Given the description of an element on the screen output the (x, y) to click on. 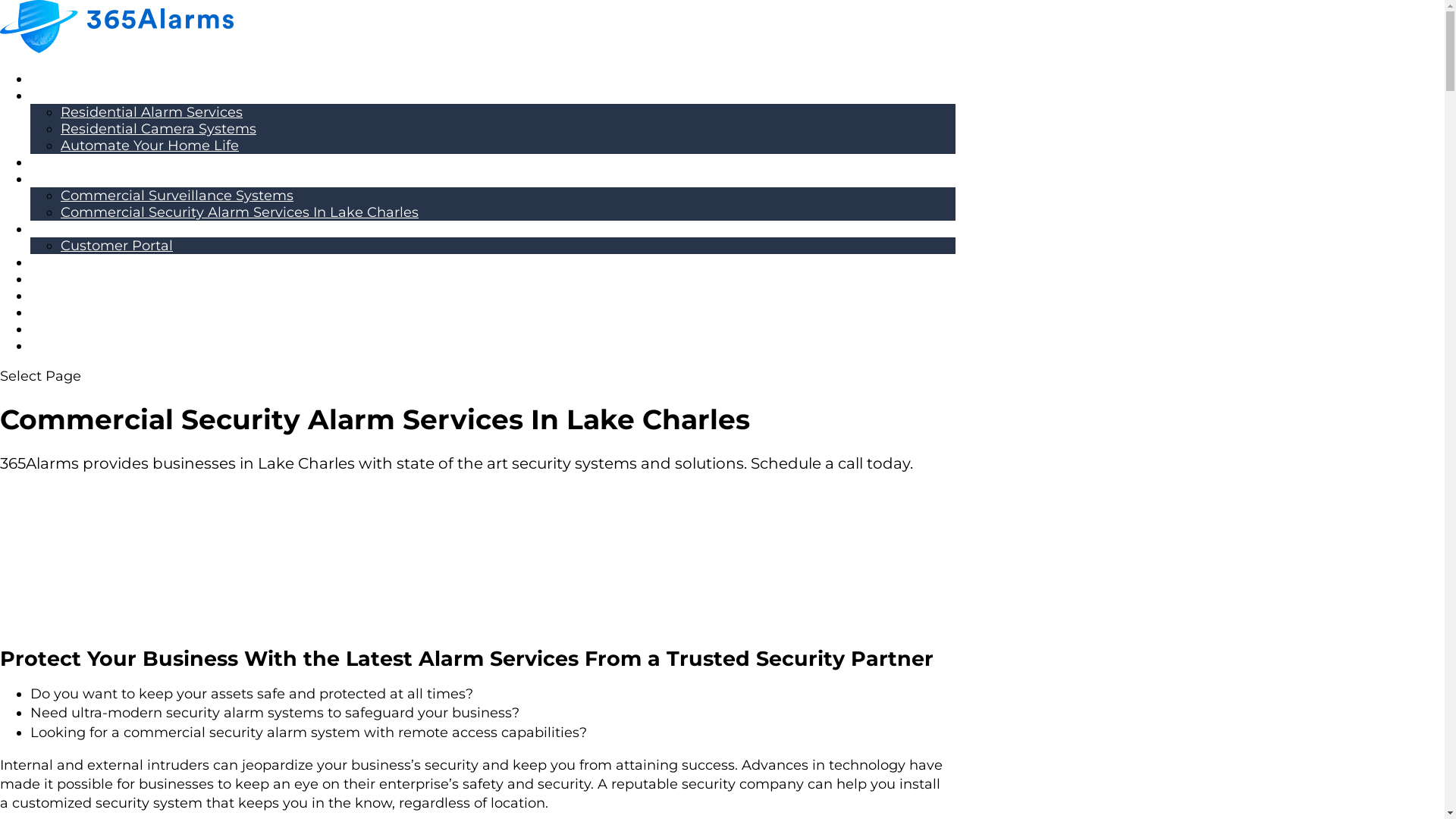
Customer Portal Element type: text (86, 228)
Residential Alarm Services Element type: text (151, 111)
Commercial Surveillance Systems Element type: text (176, 195)
Residential Camera Systems Element type: text (158, 128)
(337) 426-8844 Element type: text (80, 278)
Meet 365Alarms Element type: text (85, 78)
Customer Portal Element type: text (116, 245)
Automate Your Home Life Element type: text (149, 145)
Request A Quote Element type: text (88, 262)
Book A Free Security Consultation Element type: text (116, 480)
Residential Element type: text (68, 95)
Commercial Element type: text (72, 178)
Commercial Security Alarm Services In Lake Charles Element type: text (239, 211)
Monitoring Element type: text (67, 161)
